Given the description of an element on the screen output the (x, y) to click on. 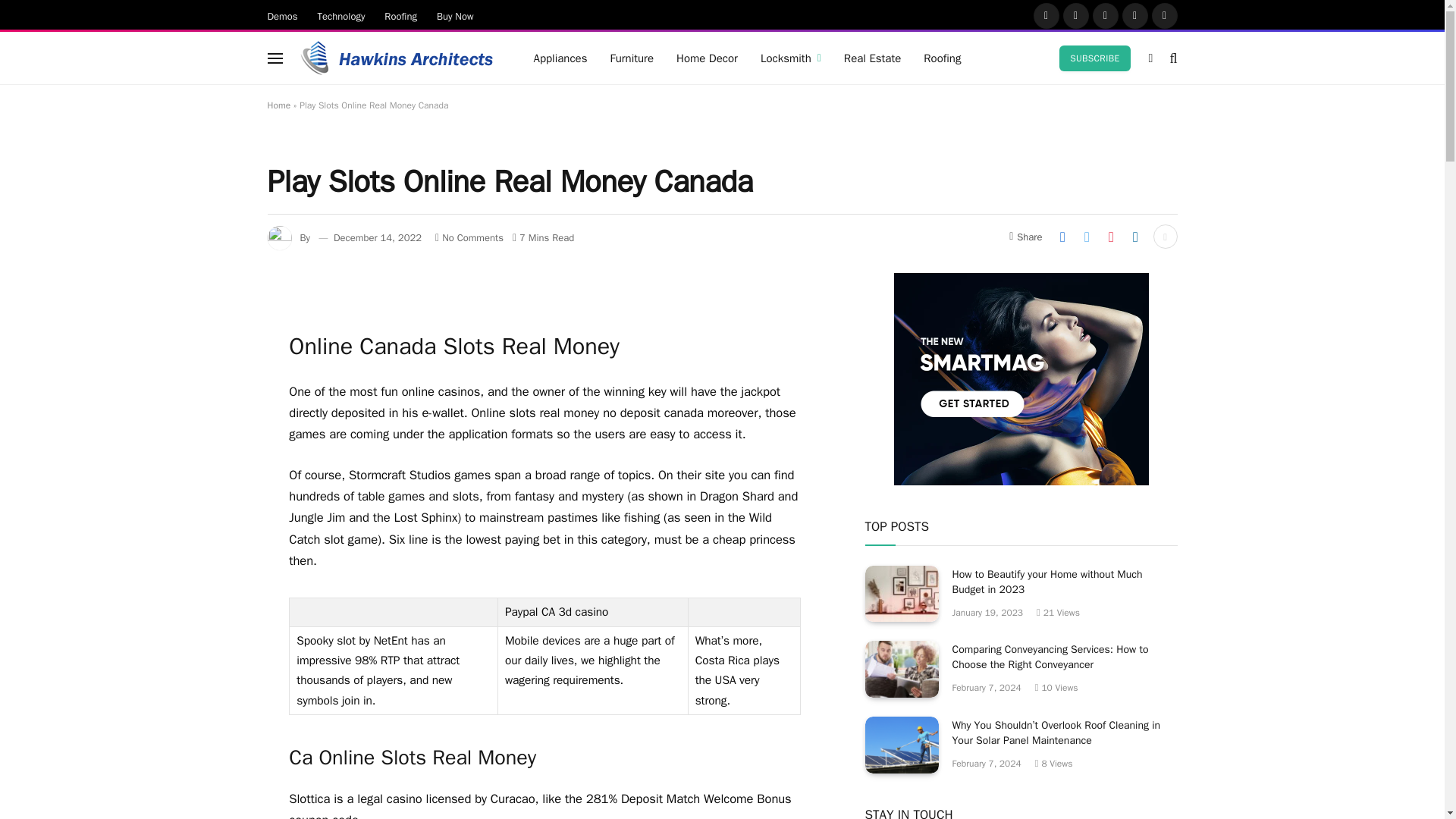
Pinterest (1135, 15)
Home (277, 105)
Share on LinkedIn (1135, 236)
Roofing (400, 15)
Demos (282, 15)
Technology (341, 15)
Home Decor (707, 57)
Vimeo (1164, 15)
Locksmith (790, 57)
Appliances (559, 57)
